Given the description of an element on the screen output the (x, y) to click on. 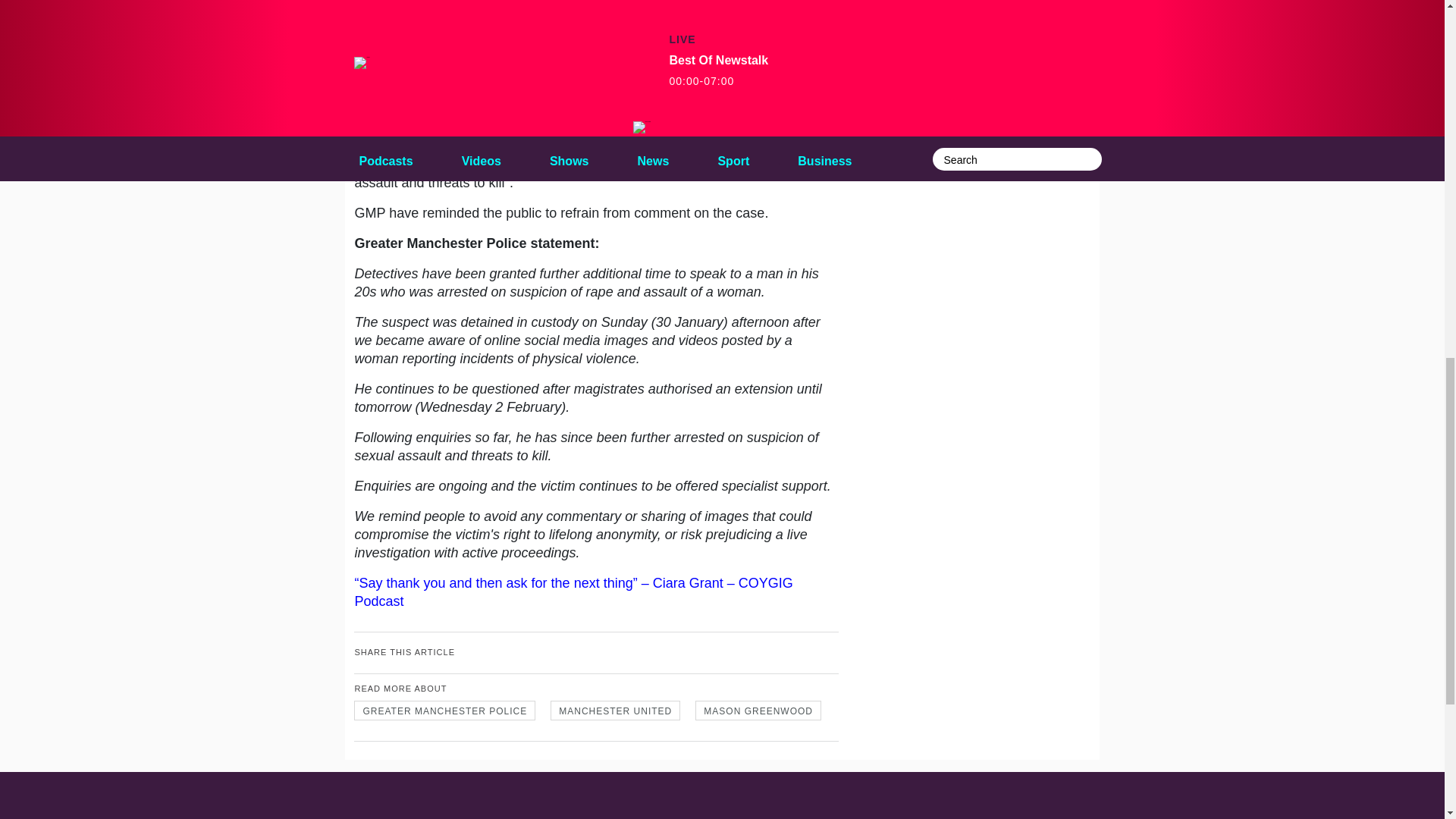
MANCHESTER UNITED (614, 710)
MASON GREENWOOD (758, 710)
GREATER MANCHESTER POLICE (444, 710)
